Given the description of an element on the screen output the (x, y) to click on. 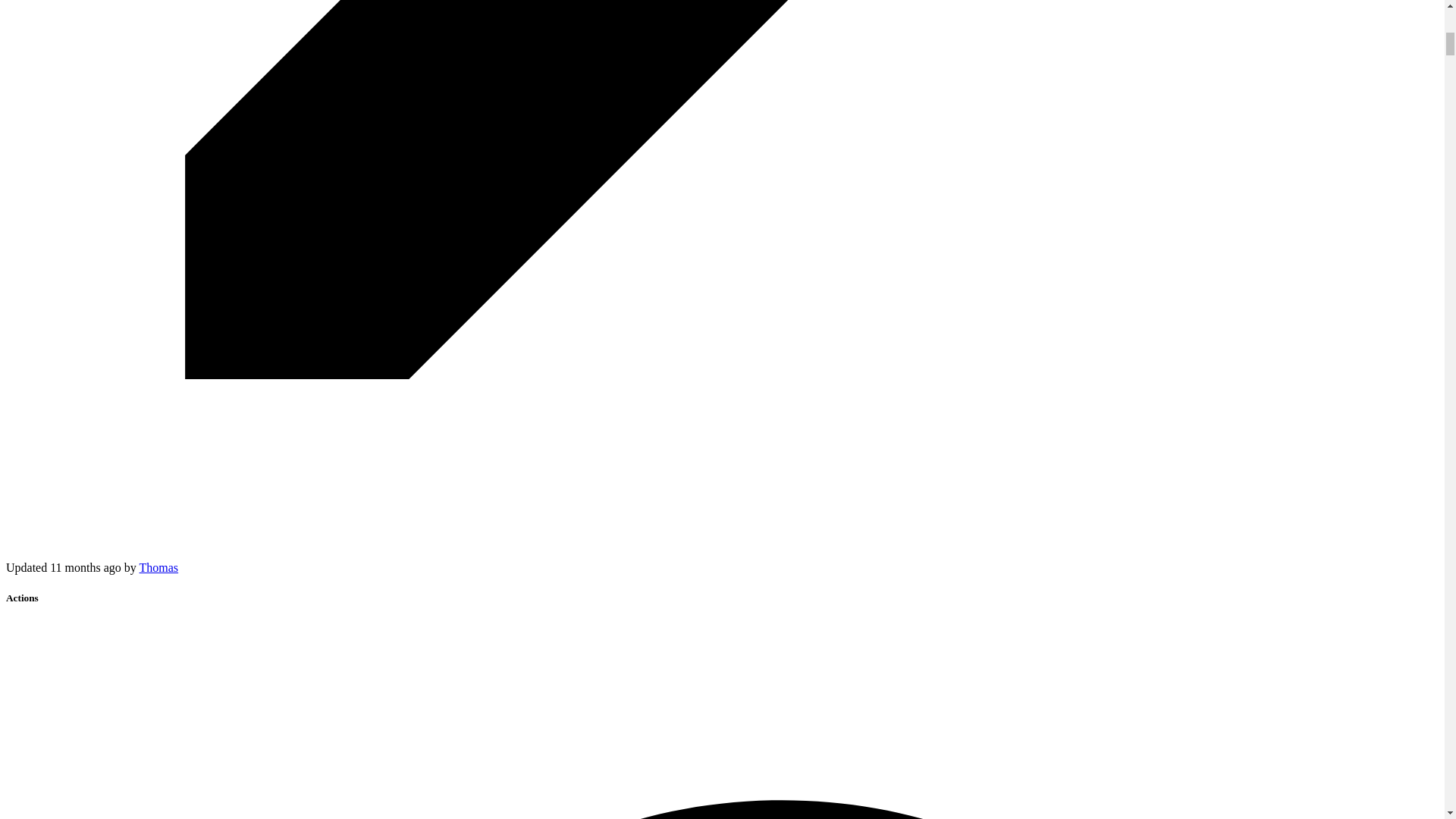
Thomas (159, 567)
Wed, Aug 23, 2023 10:45 AM (84, 567)
